Given the description of an element on the screen output the (x, y) to click on. 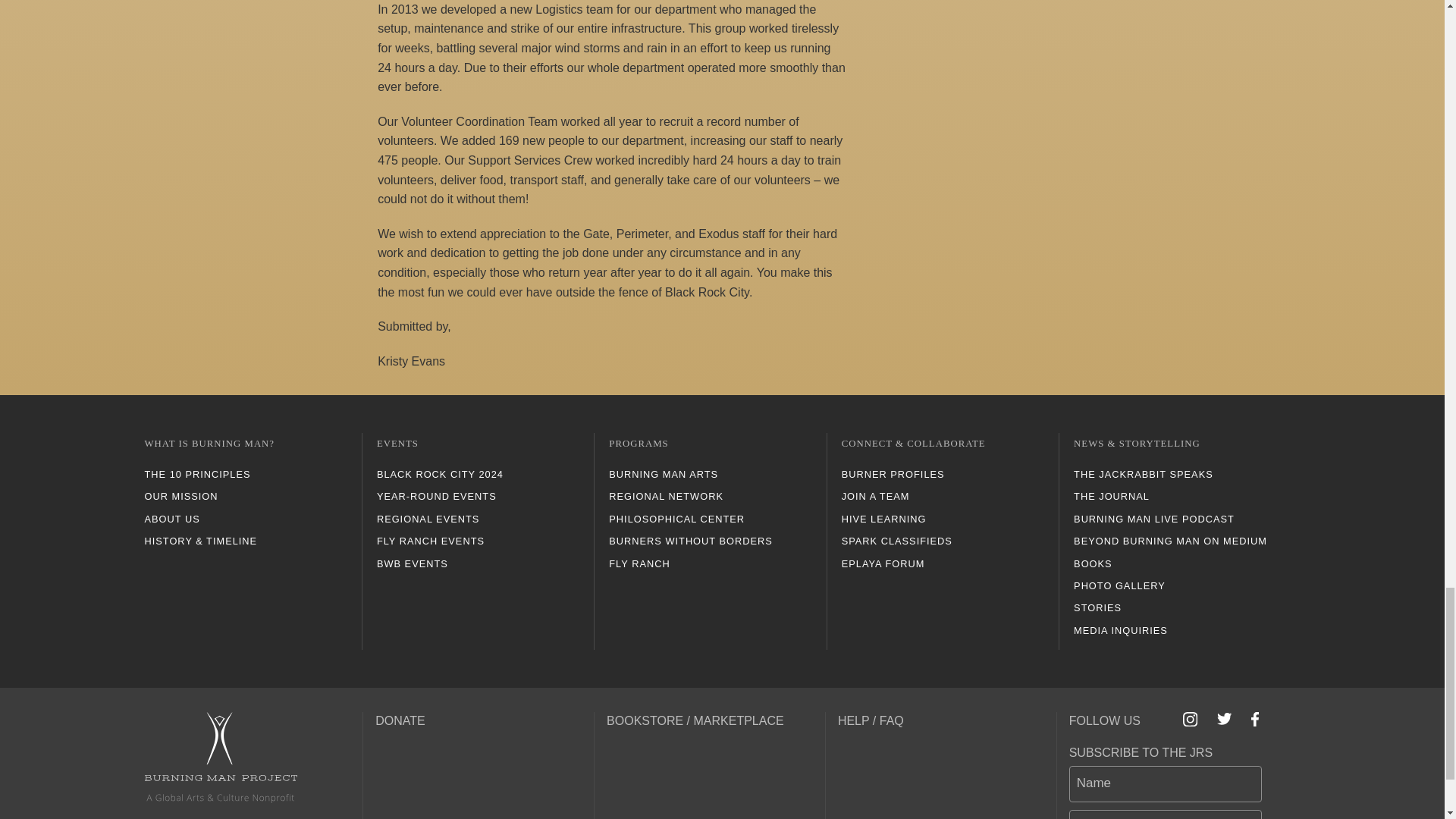
LINK TO BURNING MAN INSTAGRAM (1190, 718)
LINK TO BURNING MAN TWITTER (1224, 718)
